Given the description of an element on the screen output the (x, y) to click on. 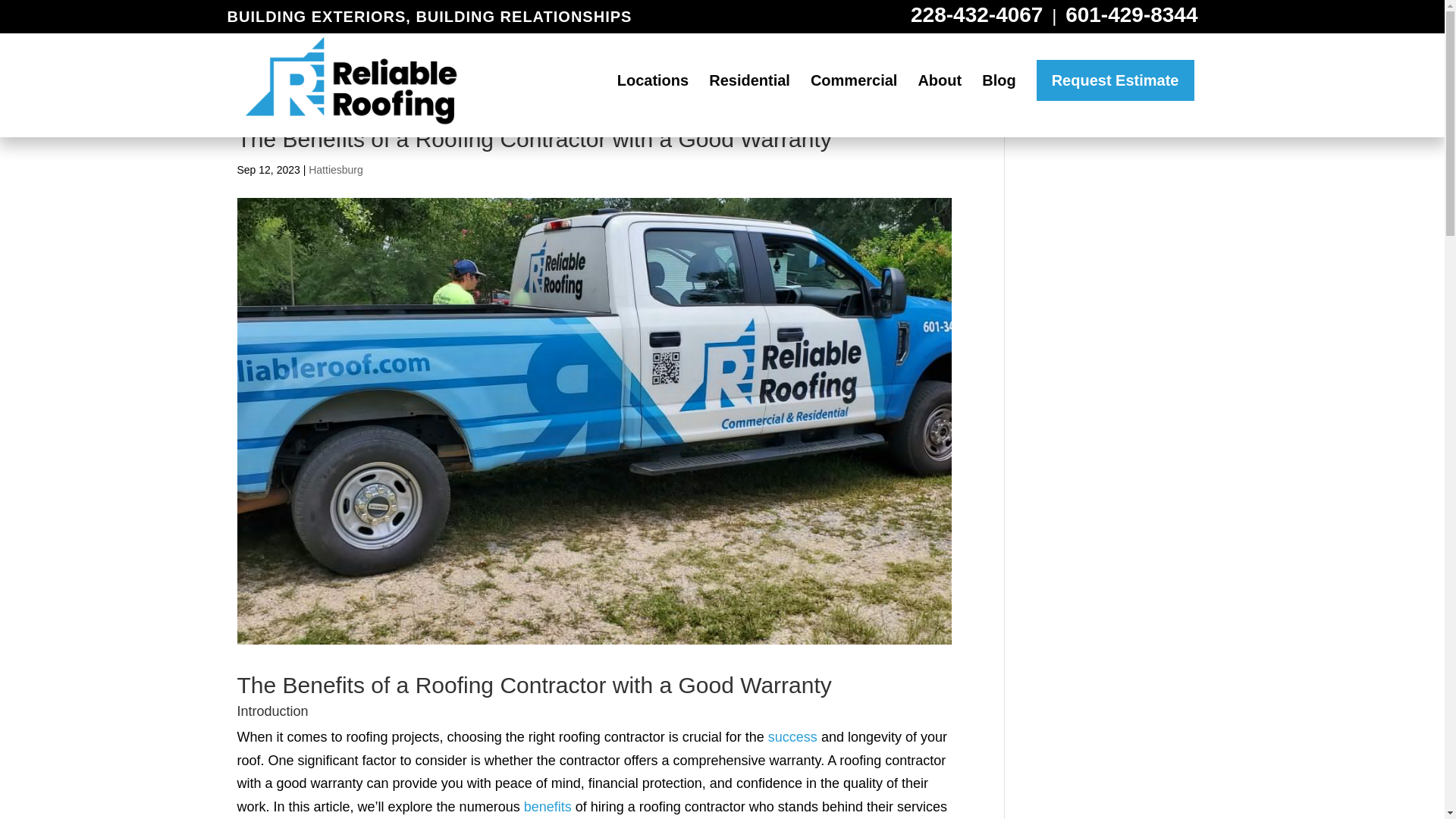
Residential (749, 100)
benefits (548, 806)
Request Estimate (1114, 78)
228-432-4067 (976, 14)
Commercial (854, 100)
601-429-8344 (1130, 14)
success (792, 736)
Hattiesburg (335, 169)
Locations (652, 100)
